Given the description of an element on the screen output the (x, y) to click on. 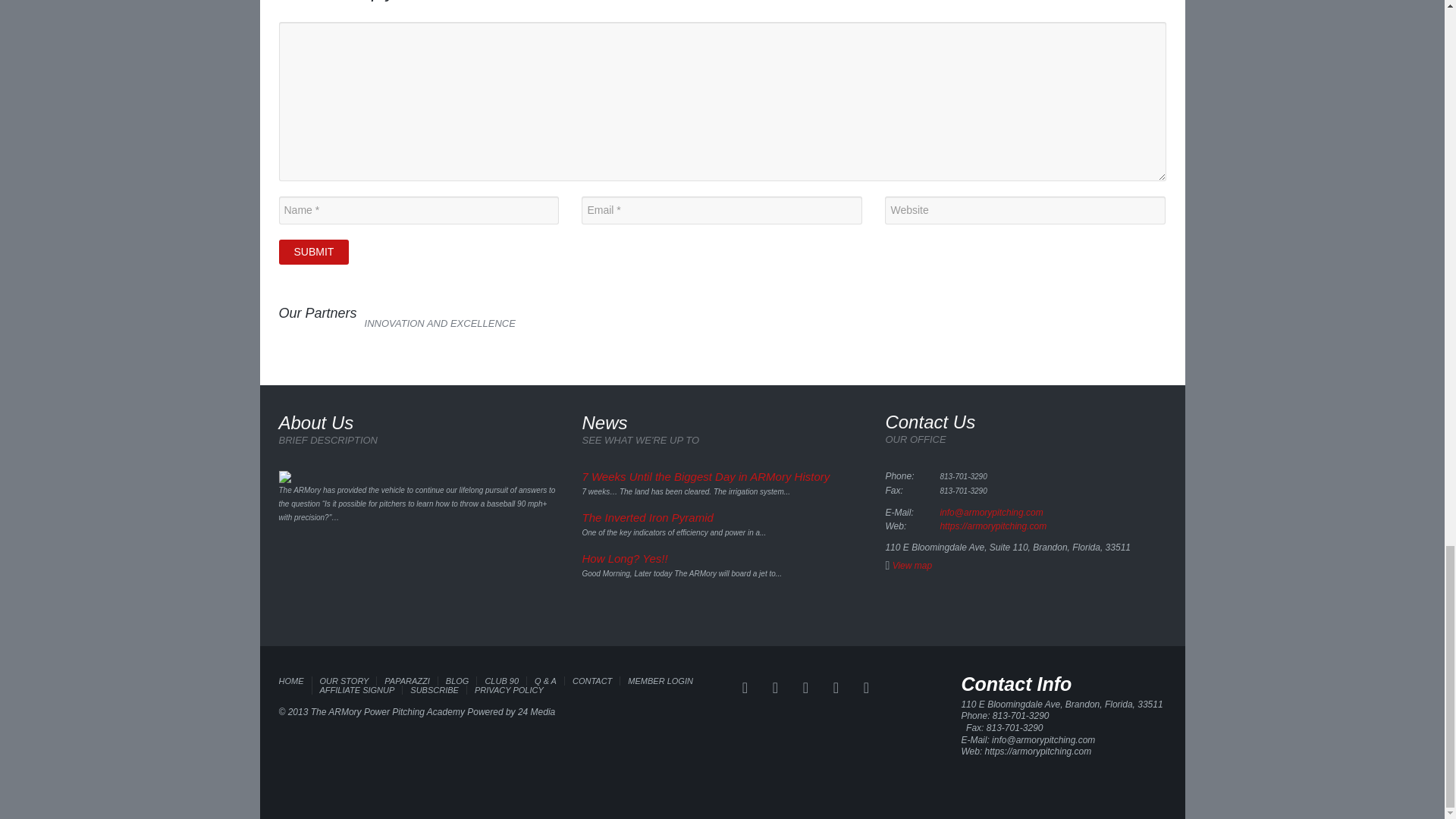
SUBMIT (314, 251)
The Inverted Iron Pyramid (646, 517)
7 Weeks Until the Biggest Day in ARMory History (704, 476)
How Long? Yes!! (623, 558)
